Given the description of an element on the screen output the (x, y) to click on. 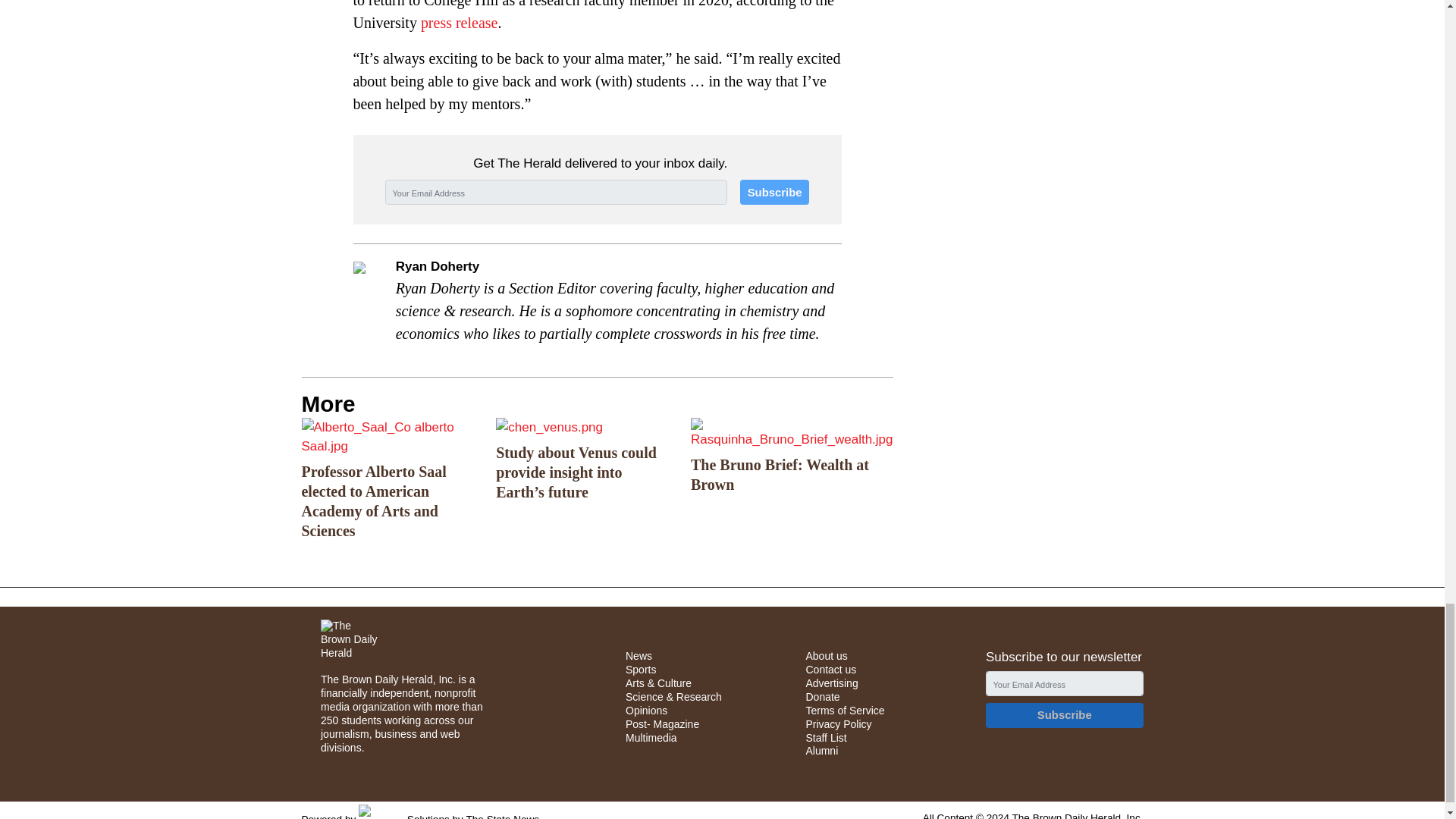
Subscribe (774, 191)
The Bruno Brief: Wealth at Brown (791, 433)
Subscribe (1063, 715)
The Bruno Brief: Wealth at Brown (779, 474)
